Given the description of an element on the screen output the (x, y) to click on. 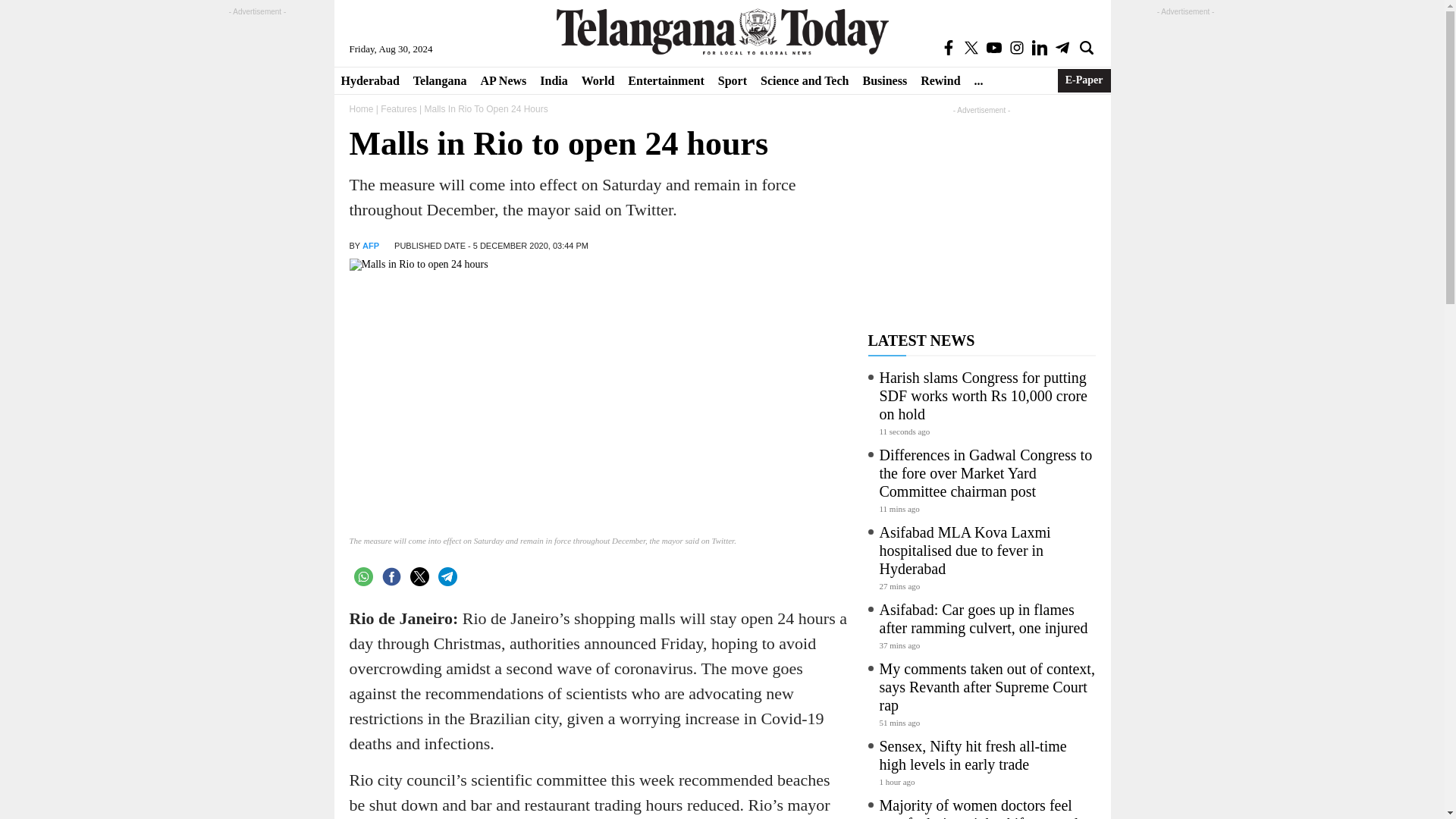
India (552, 80)
Business (885, 80)
Telangana (440, 80)
Hyderabad (369, 80)
AP News (502, 80)
... (979, 80)
Science and Tech (805, 80)
Rewind (940, 80)
... (979, 80)
Home (360, 109)
